Given the description of an element on the screen output the (x, y) to click on. 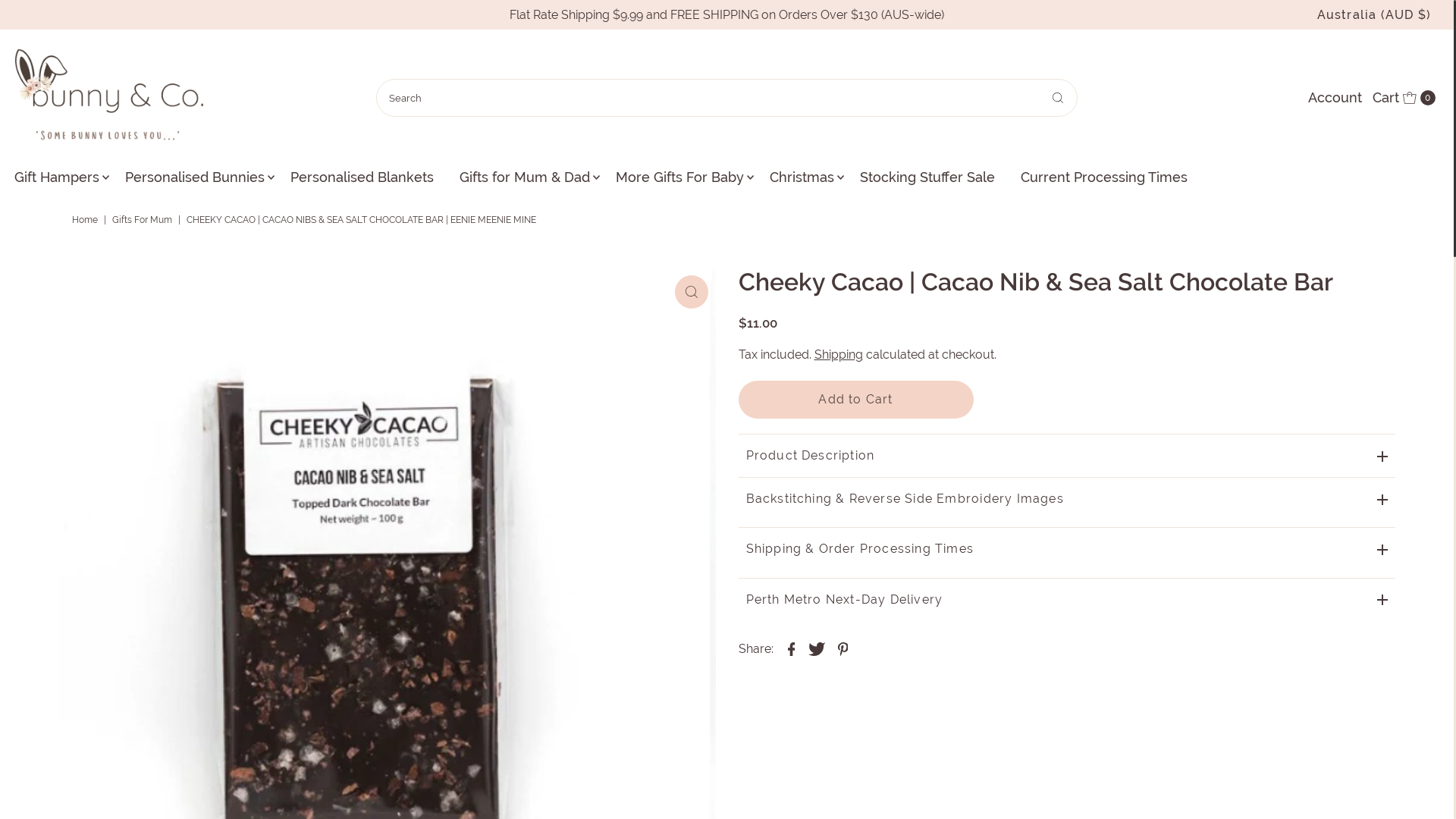
Shipping Element type: text (838, 354)
Christmas Element type: text (801, 177)
Account Element type: text (1334, 97)
Shipping & Order Processing Times Element type: text (1067, 548)
Product Description Element type: text (1067, 454)
Stocking Stuffer Sale Element type: text (927, 177)
Perth Metro Next-Day Delivery Element type: text (1067, 598)
Current Processing Times Element type: text (1103, 177)
Click to zoom Element type: hover (691, 291)
Backstitching & Reverse Side Embroidery Images Element type: text (1067, 497)
Home Element type: text (86, 219)
Add to Cart Element type: text (855, 399)
Personalised Blankets Element type: text (362, 177)
Gifts for Mum & Dad Element type: text (524, 177)
Gifts For Mum Element type: text (143, 219)
Cart
0 Element type: text (1403, 97)
More Gifts For Baby Element type: text (679, 177)
Gift Hampers Element type: text (56, 177)
Australia (AUD $) Element type: text (1373, 14)
Personalised Bunnies Element type: text (194, 177)
